Given the description of an element on the screen output the (x, y) to click on. 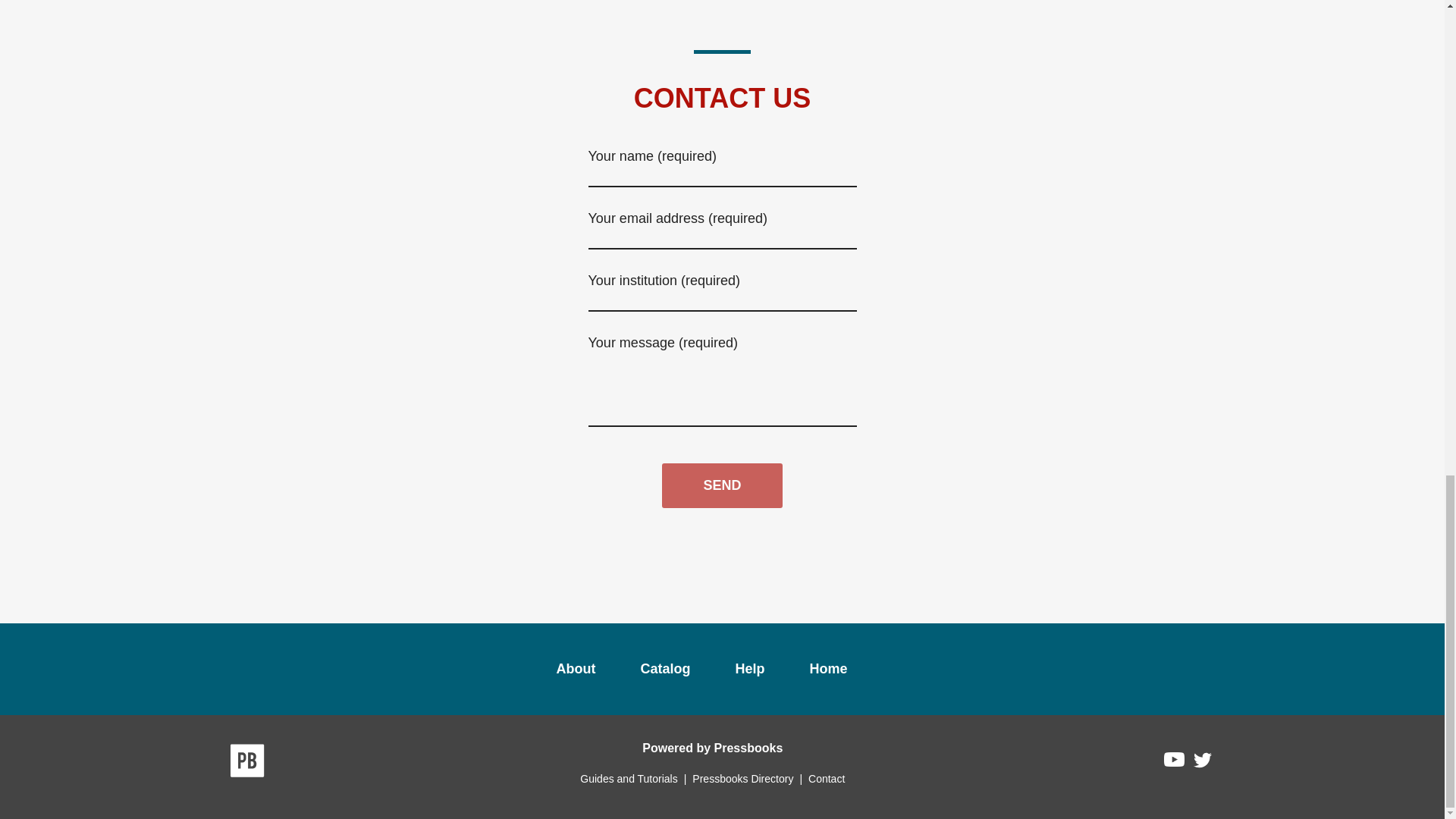
About (575, 668)
Pressbooks Directory (742, 778)
Guides and Tutorials (627, 778)
Help (749, 668)
Contact (826, 778)
Pressbooks on YouTube (1174, 763)
Home (828, 668)
Send (721, 485)
Pressbooks on YouTube (1174, 763)
Powered by Pressbooks (712, 747)
